Given the description of an element on the screen output the (x, y) to click on. 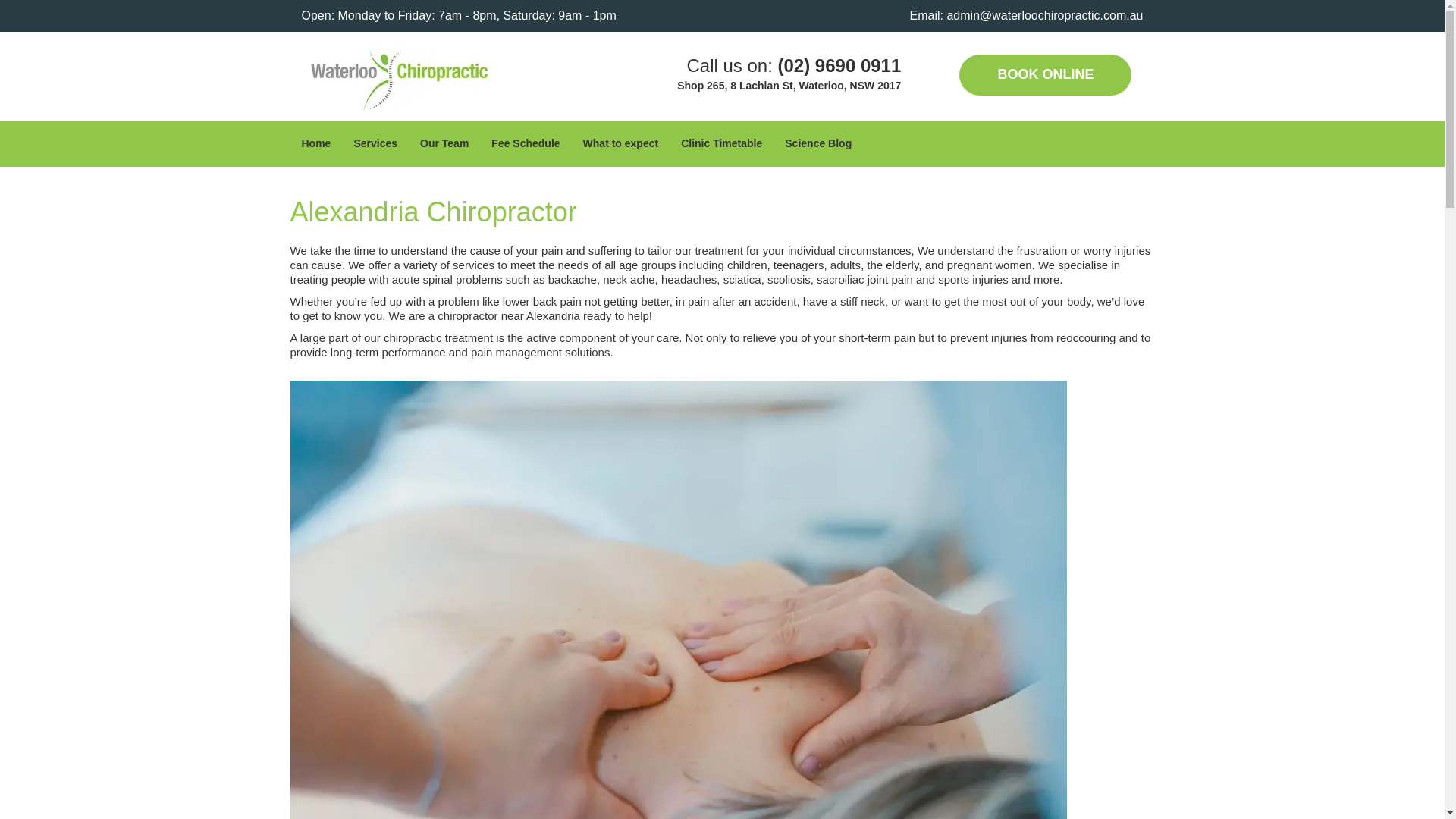
Our Team (444, 143)
Science Blog (818, 143)
What to expect (620, 143)
Services (375, 143)
Clinic Timetable (721, 143)
BOOK ONLINE (1045, 74)
Fee Schedule (525, 143)
Home (315, 143)
